Given the description of an element on the screen output the (x, y) to click on. 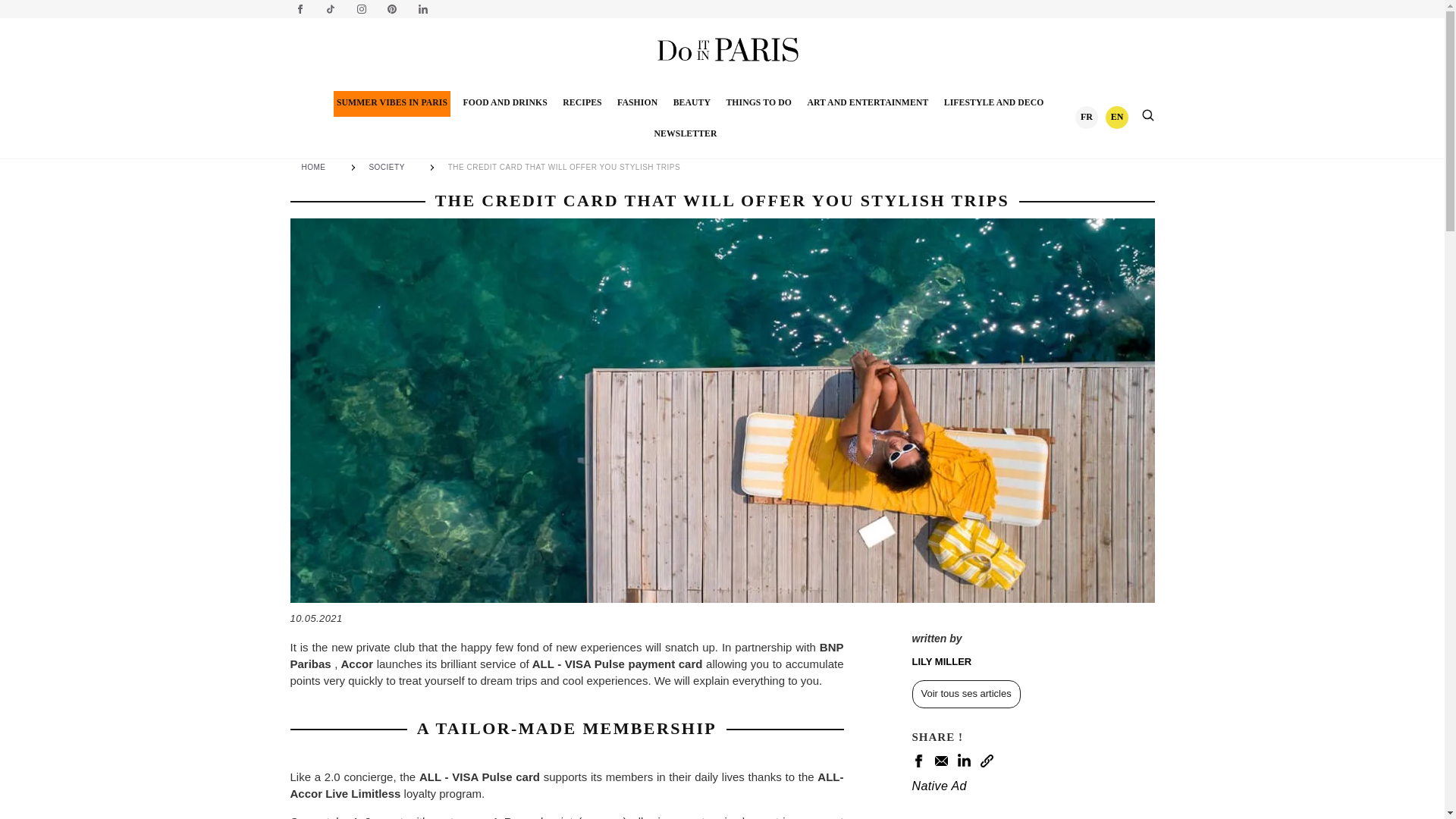
Do It in Paris TikTok (330, 8)
Do it In Paris (727, 49)
THINGS TO DO (758, 103)
Instagram Icon (361, 8)
Facebook Icon (299, 8)
RECIPES (581, 103)
BEAUTY (691, 103)
The credit card that will offer you stylish trips (566, 166)
mail (940, 760)
